Given the description of an element on the screen output the (x, y) to click on. 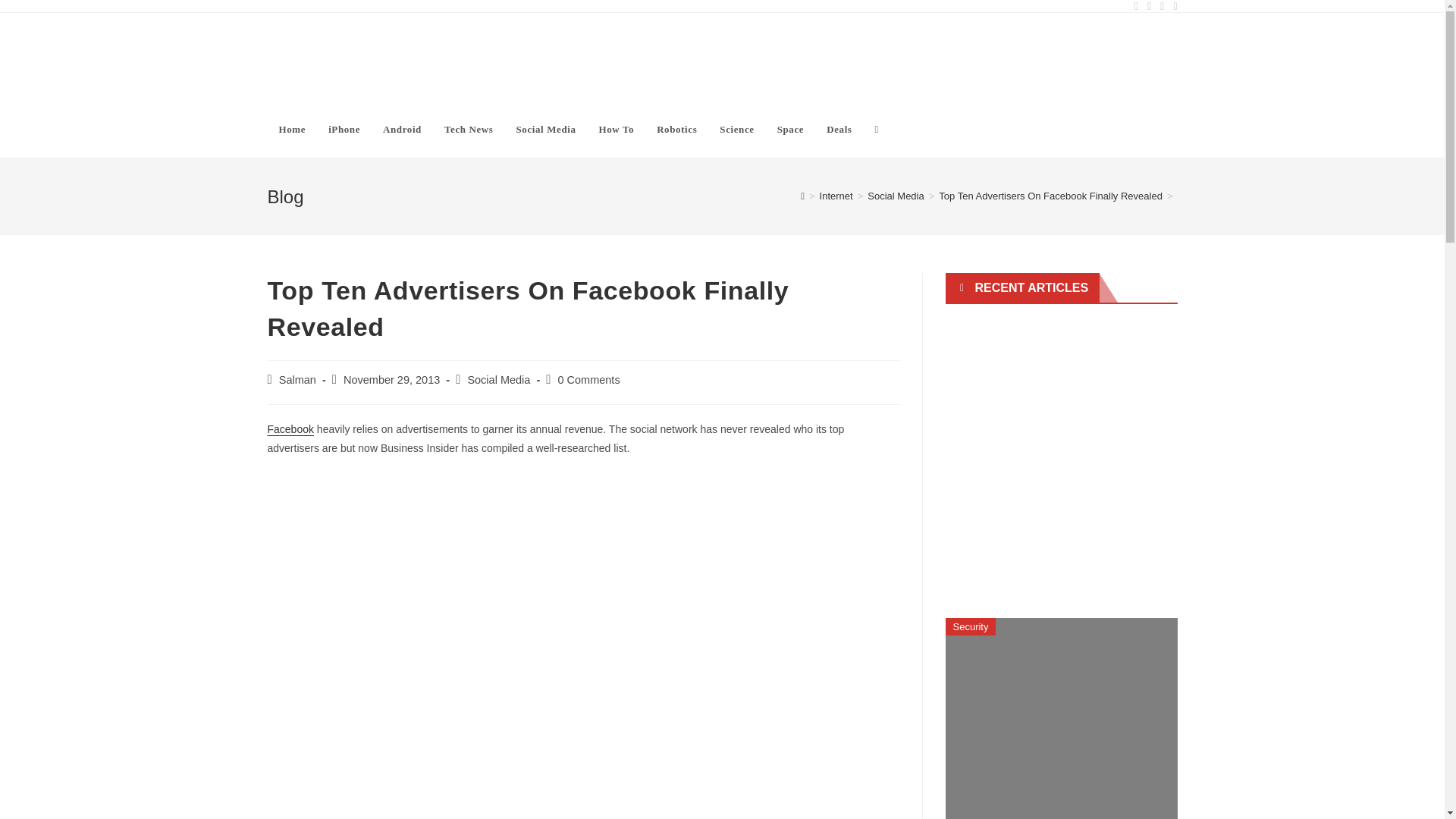
Robotics (676, 129)
Facebook (289, 428)
Social Media (895, 195)
Social Media (498, 379)
How To (617, 129)
Social Media (544, 129)
0 Comments (588, 379)
Toggle website search (876, 129)
Security (969, 626)
Deals (839, 129)
Salman (297, 379)
Posts by Salman (297, 379)
Internet (836, 195)
Android (401, 129)
Space (790, 129)
